Given the description of an element on the screen output the (x, y) to click on. 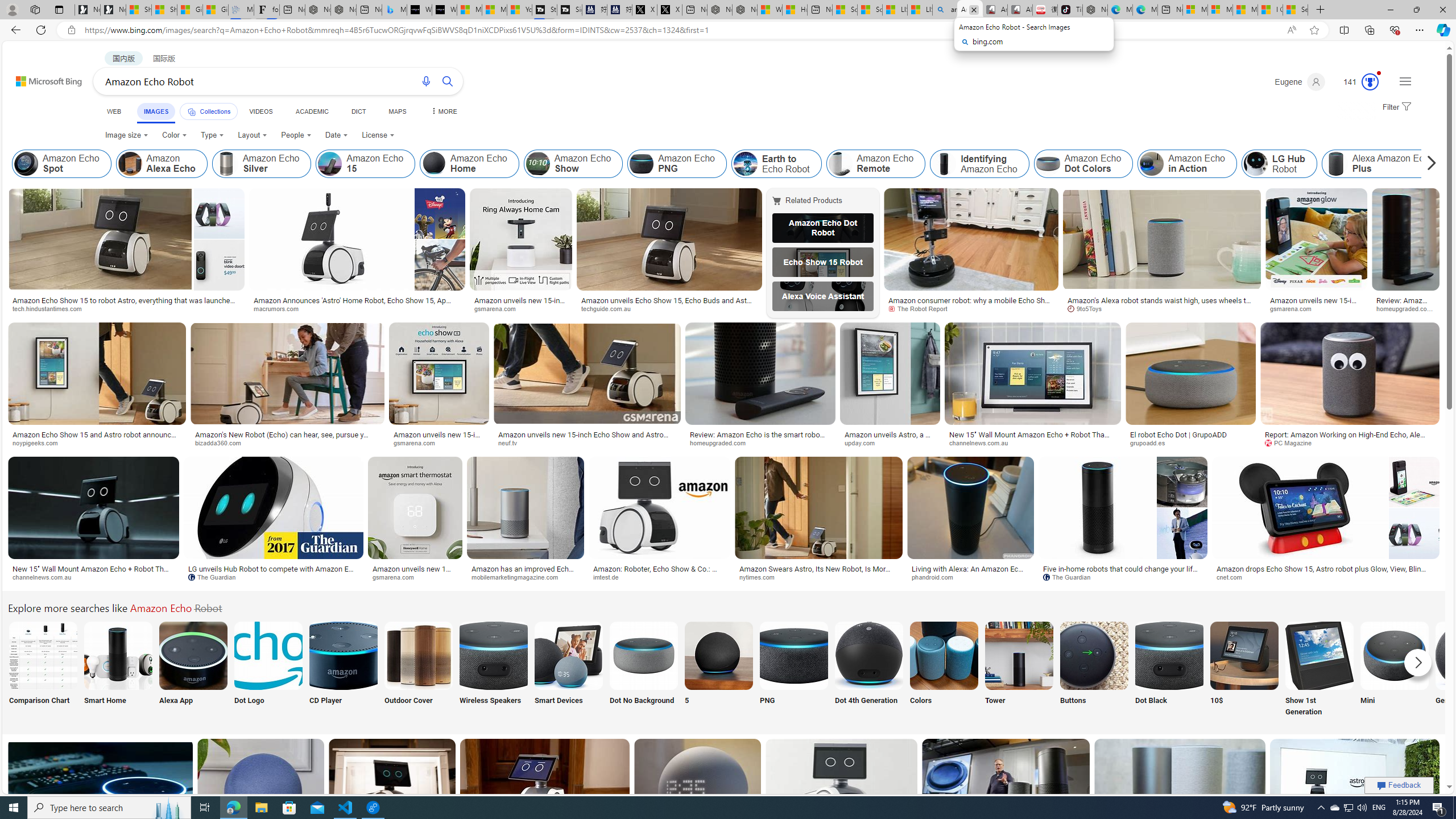
homeupgraded.com (760, 442)
techguide.com.au (668, 308)
tech.hindustantimes.com (126, 308)
Amazon Echo Mini (1393, 654)
Echo Show 15 Robot (822, 261)
mobilemarketingmagazine.com (525, 576)
Amazon Echo Dot Logo Dot Logo (268, 669)
Amazon Echo Show 1st Generation (1319, 654)
Identifying Amazon Echo (979, 163)
Amazon Echo PNG (794, 654)
